Given the description of an element on the screen output the (x, y) to click on. 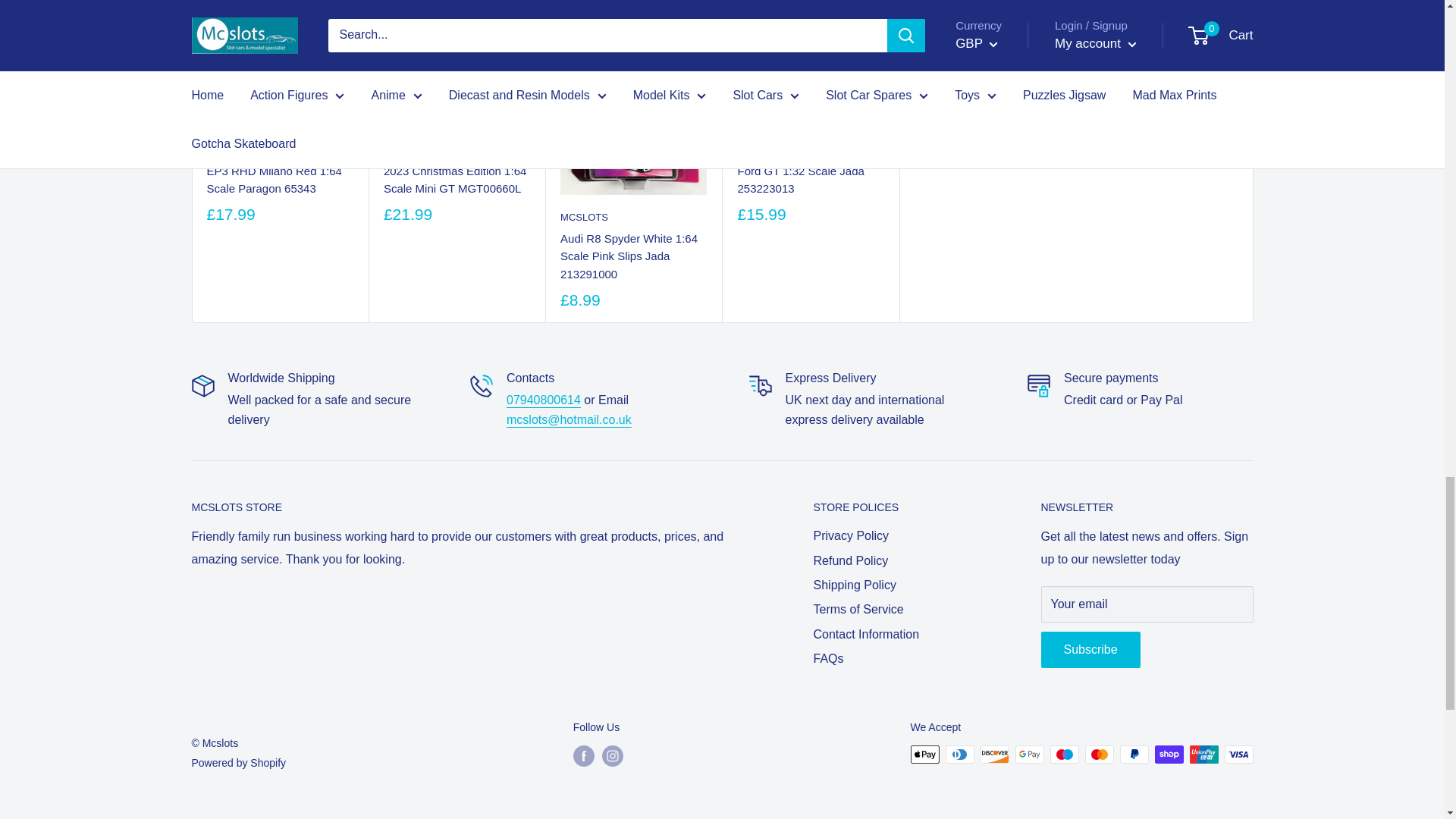
tel:07940800614 (543, 399)
